Given the description of an element on the screen output the (x, y) to click on. 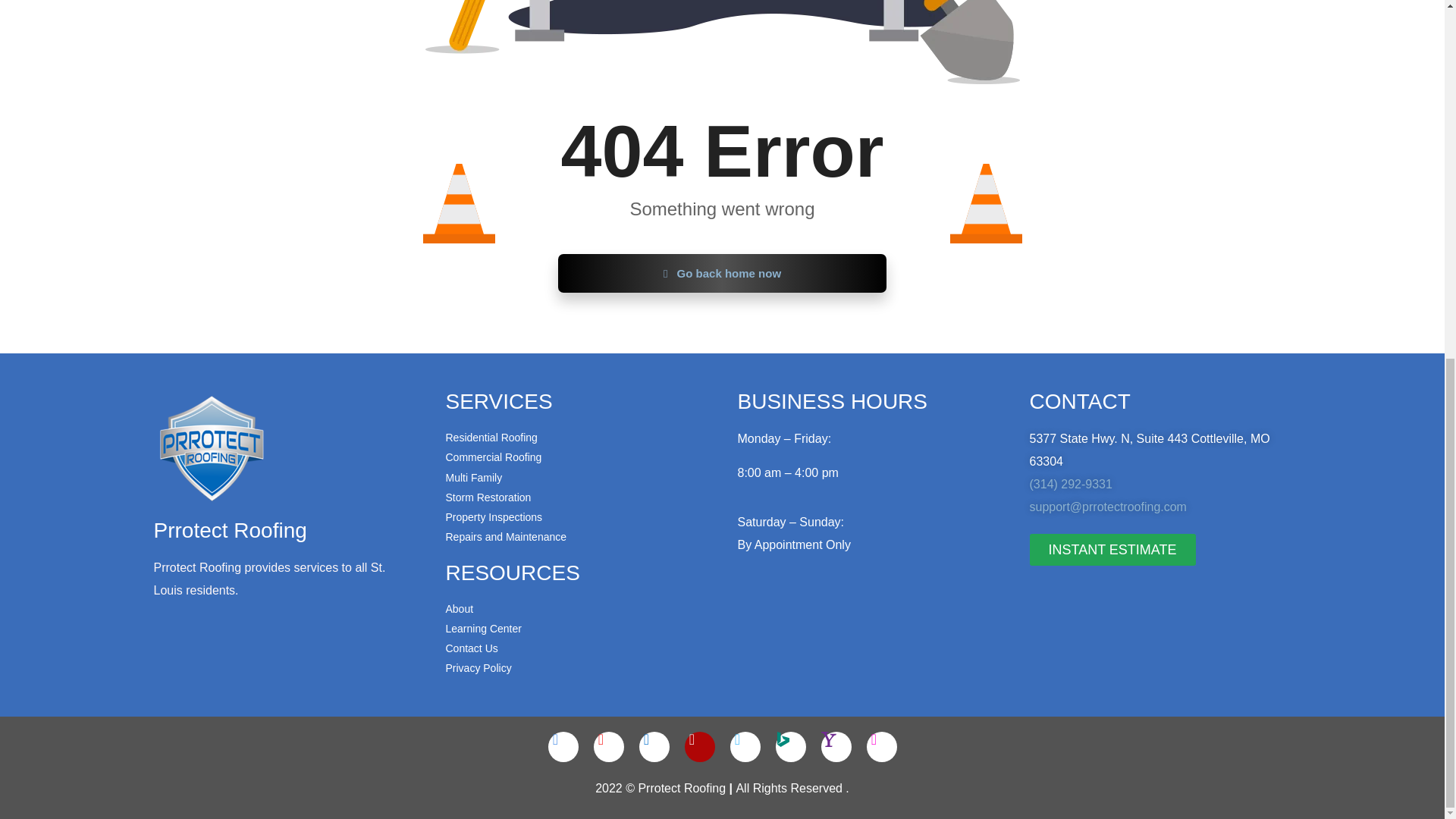
Storm Restoration (576, 496)
Go back home now (721, 272)
About (576, 608)
Multi Family (576, 476)
Property Inspections (576, 516)
Commercial Roofing (576, 456)
Learning Center (576, 628)
Privacy Policy (576, 668)
logomn. (210, 448)
Contact Us (576, 648)
Repairs and Maintenance (576, 537)
Residential Roofing (576, 437)
